Given the description of an element on the screen output the (x, y) to click on. 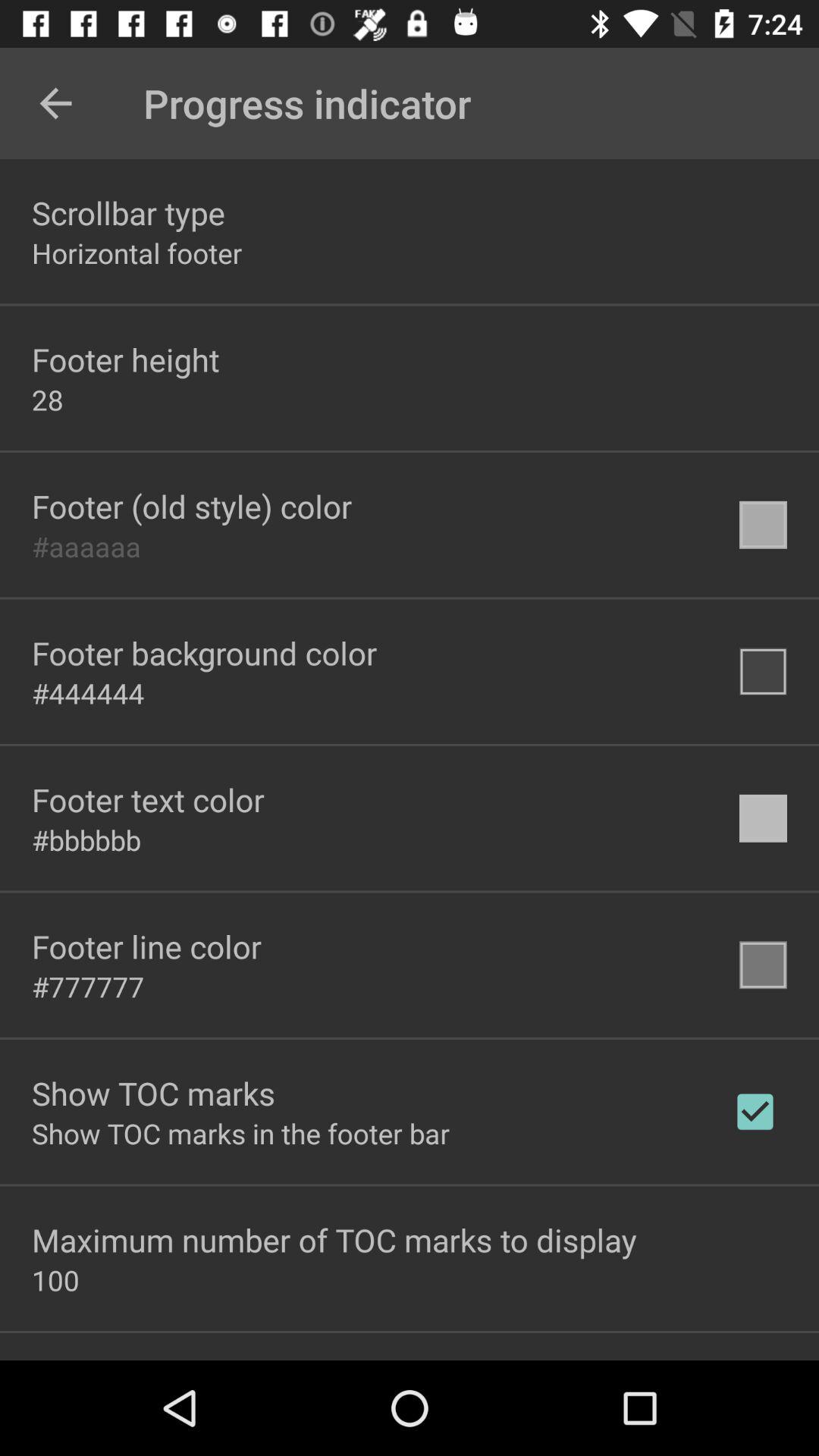
scroll until footer height item (125, 359)
